Given the description of an element on the screen output the (x, y) to click on. 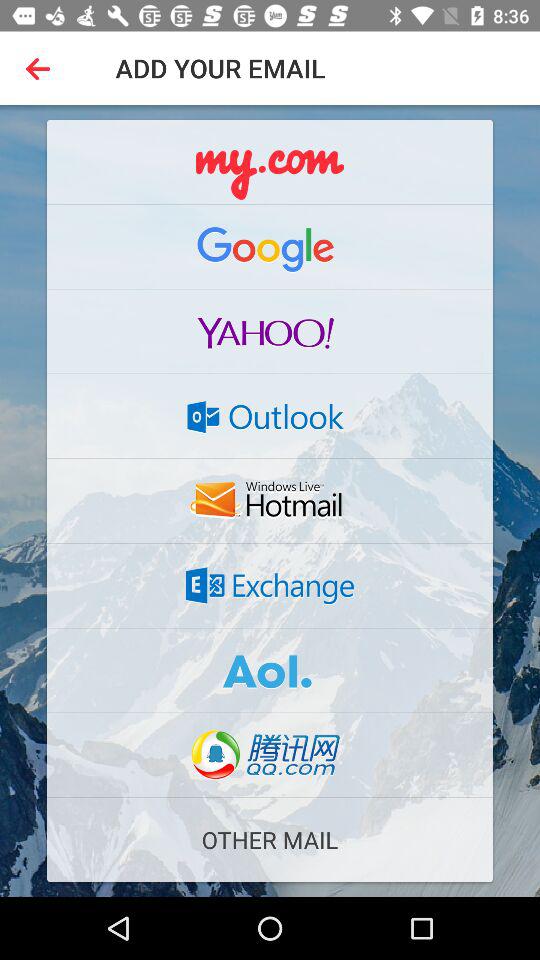
tap the other mail item (269, 839)
